Given the description of an element on the screen output the (x, y) to click on. 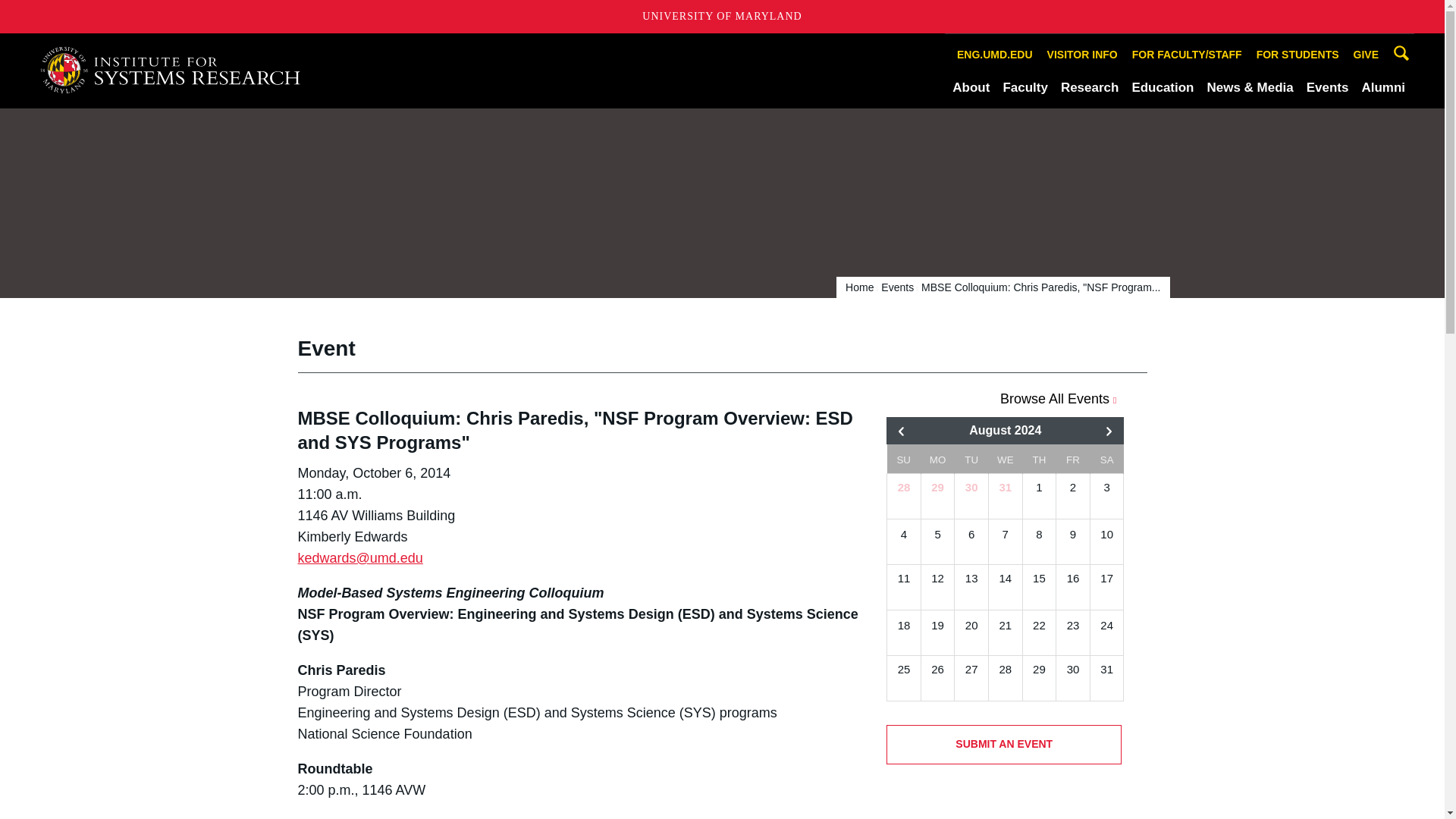
About (971, 87)
A. James Clark School of Engineering, University of Maryland (175, 69)
UNIVERSITY OF MARYLAND (722, 16)
About (971, 87)
VISITOR INFO (1082, 54)
GIVE (1366, 54)
FOR STUDENTS (1296, 54)
Faculty (1024, 87)
ENG.UMD.EDU (995, 54)
